Given the description of an element on the screen output the (x, y) to click on. 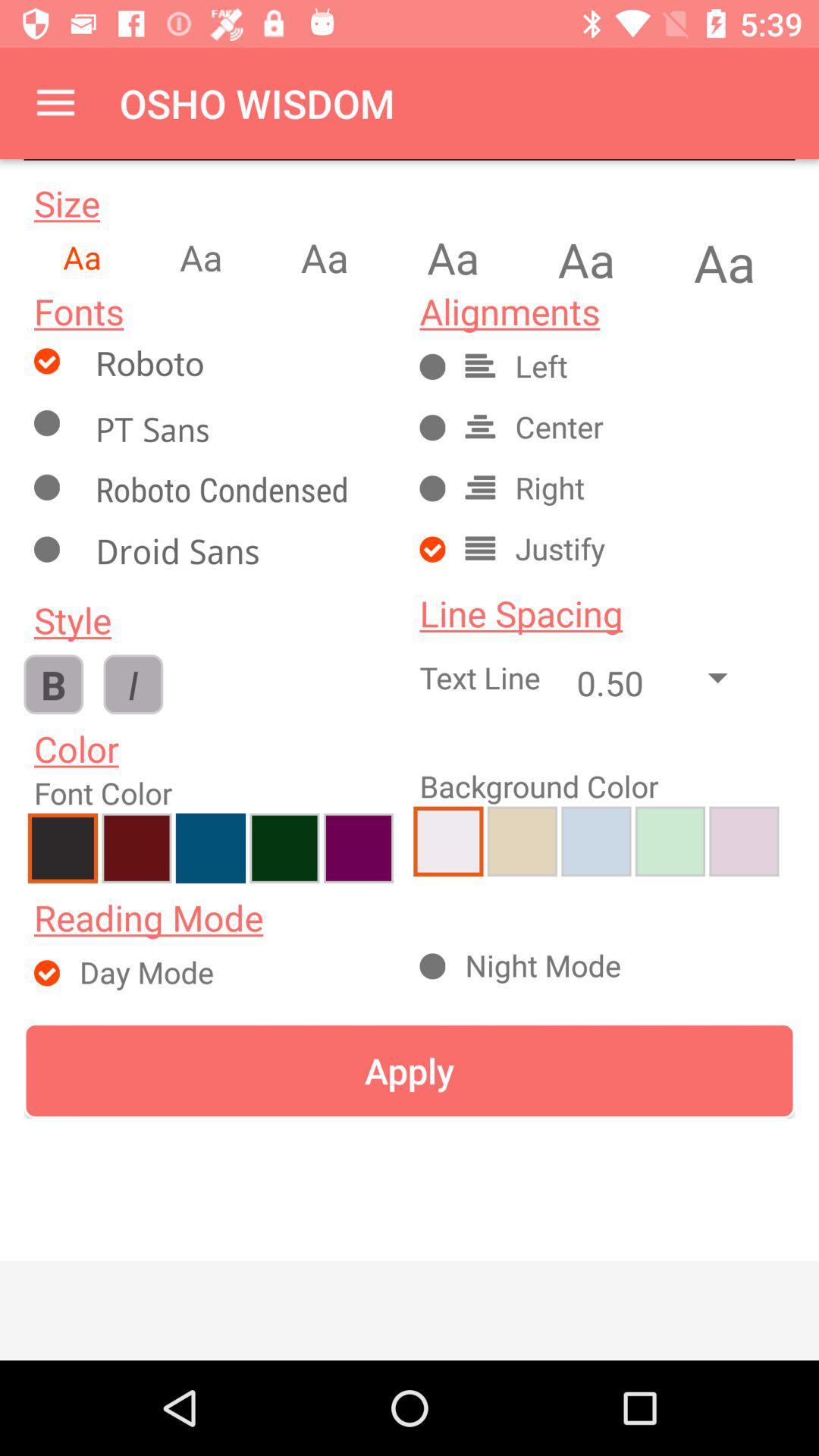
changes the font to roboto condensed (239, 492)
